Given the description of an element on the screen output the (x, y) to click on. 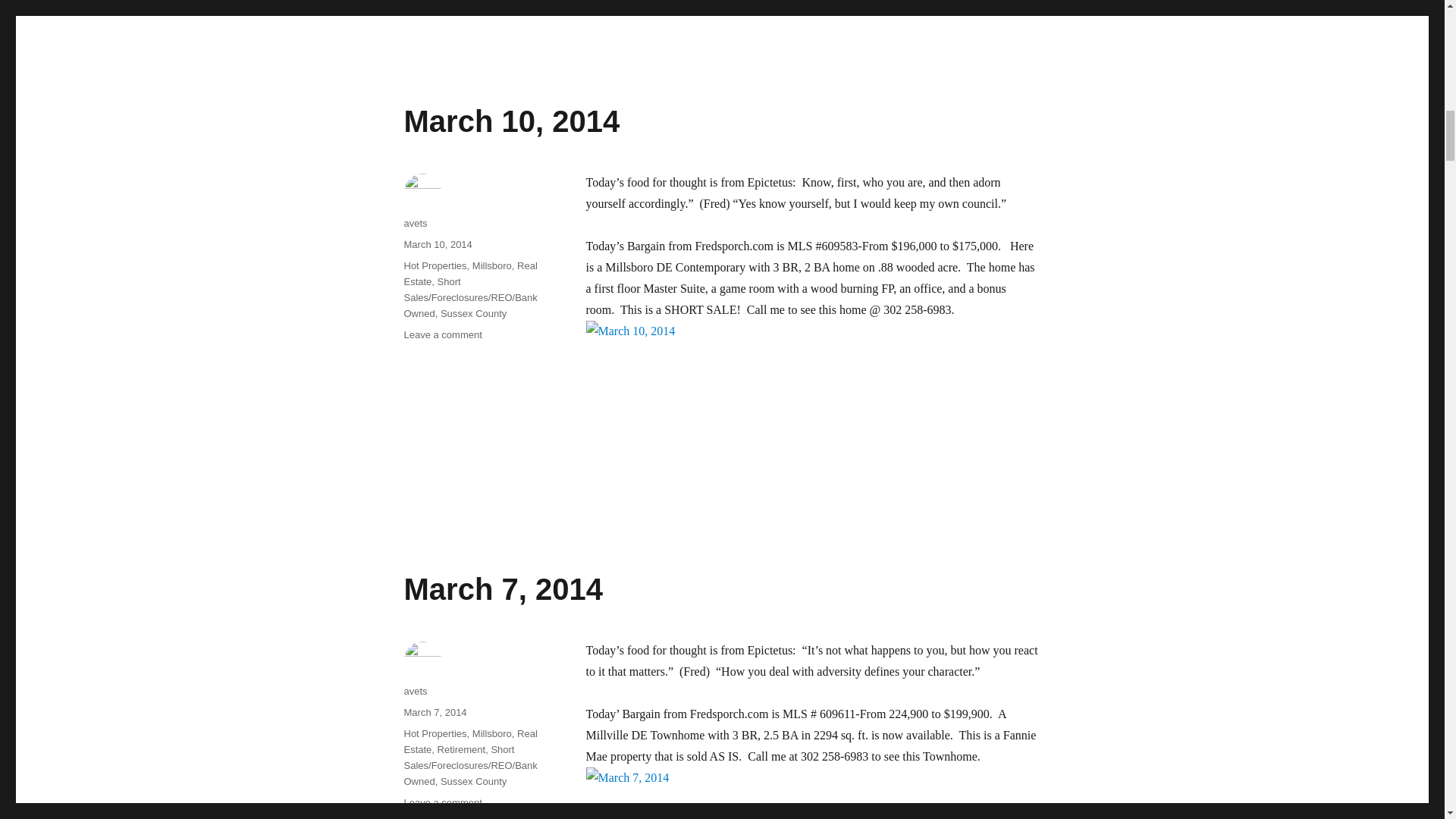
avets (414, 223)
March 10, 2014 (442, 334)
Millsboro (511, 121)
March 10, 2014 (491, 265)
Hot Properties (437, 244)
Real Estate (434, 265)
Sussex County (470, 273)
